Given the description of an element on the screen output the (x, y) to click on. 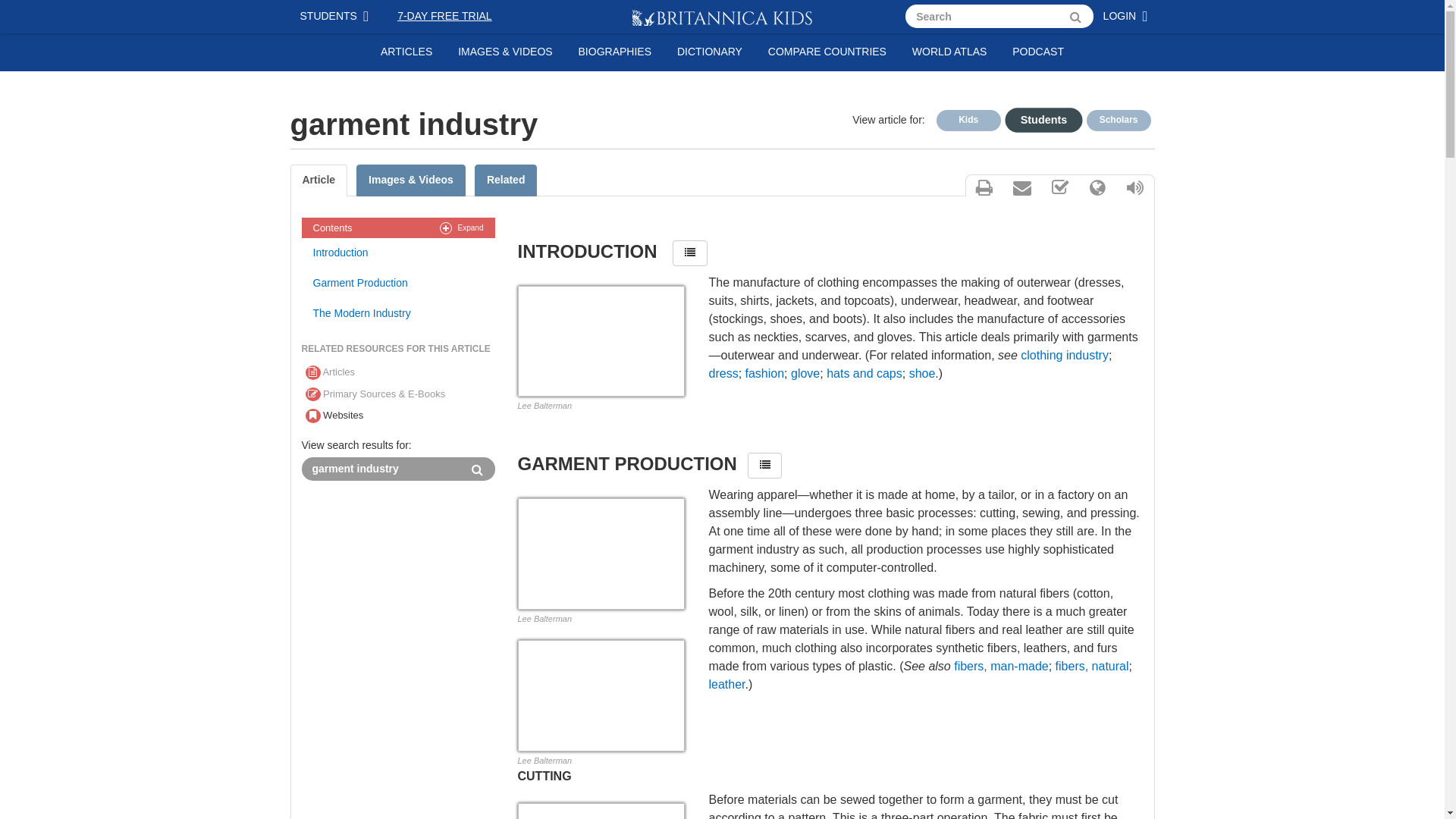
Table of Contents (689, 253)
Table of Contents (765, 465)
garment industry (381, 468)
Grades 6-8 (1036, 118)
garment industry (381, 468)
STUDENTS (336, 16)
